Given the description of an element on the screen output the (x, y) to click on. 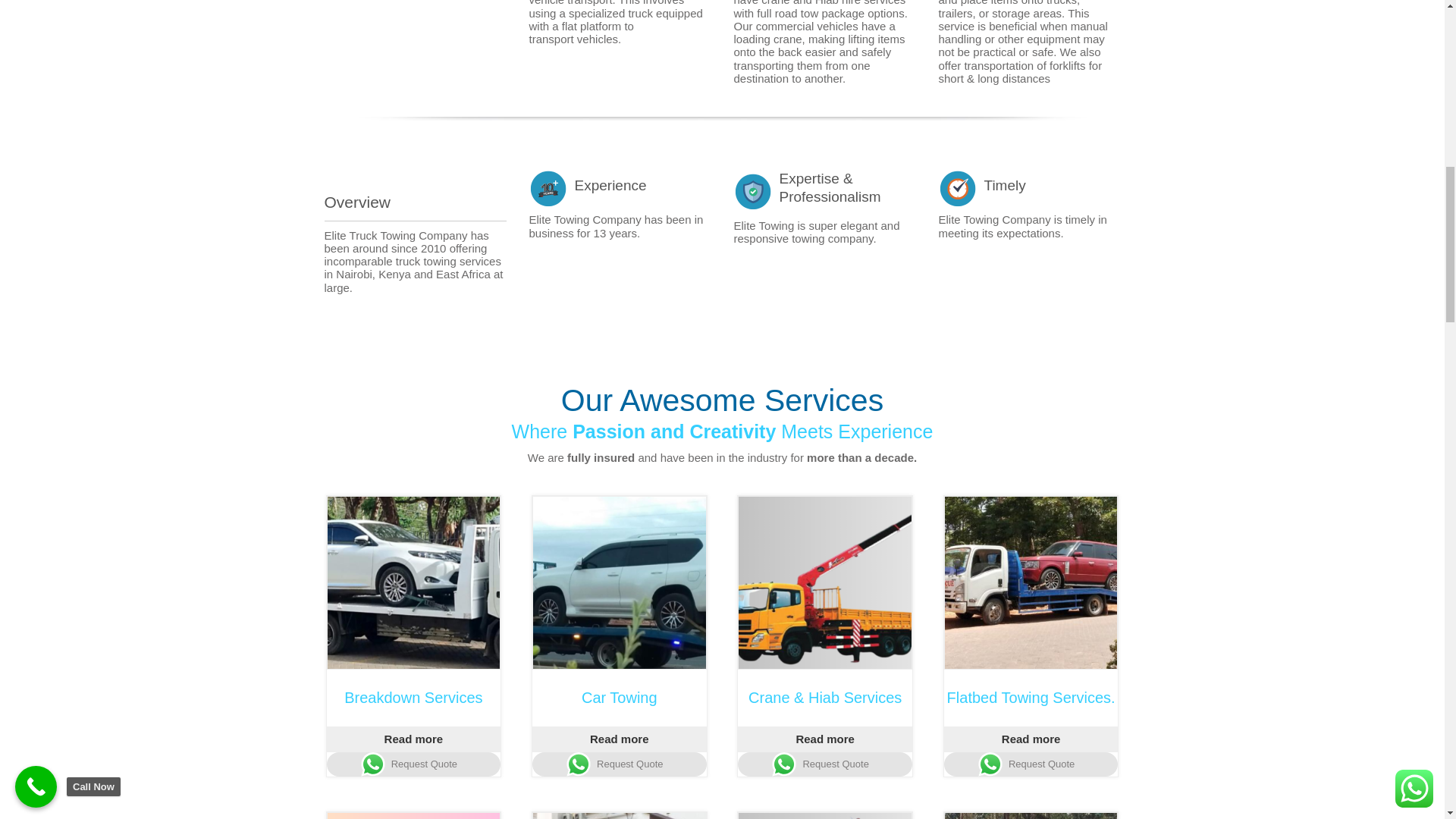
Our Awesome Services (722, 400)
Overview (415, 206)
Where Passion and Creativity Meets Experience (722, 431)
